Given the description of an element on the screen output the (x, y) to click on. 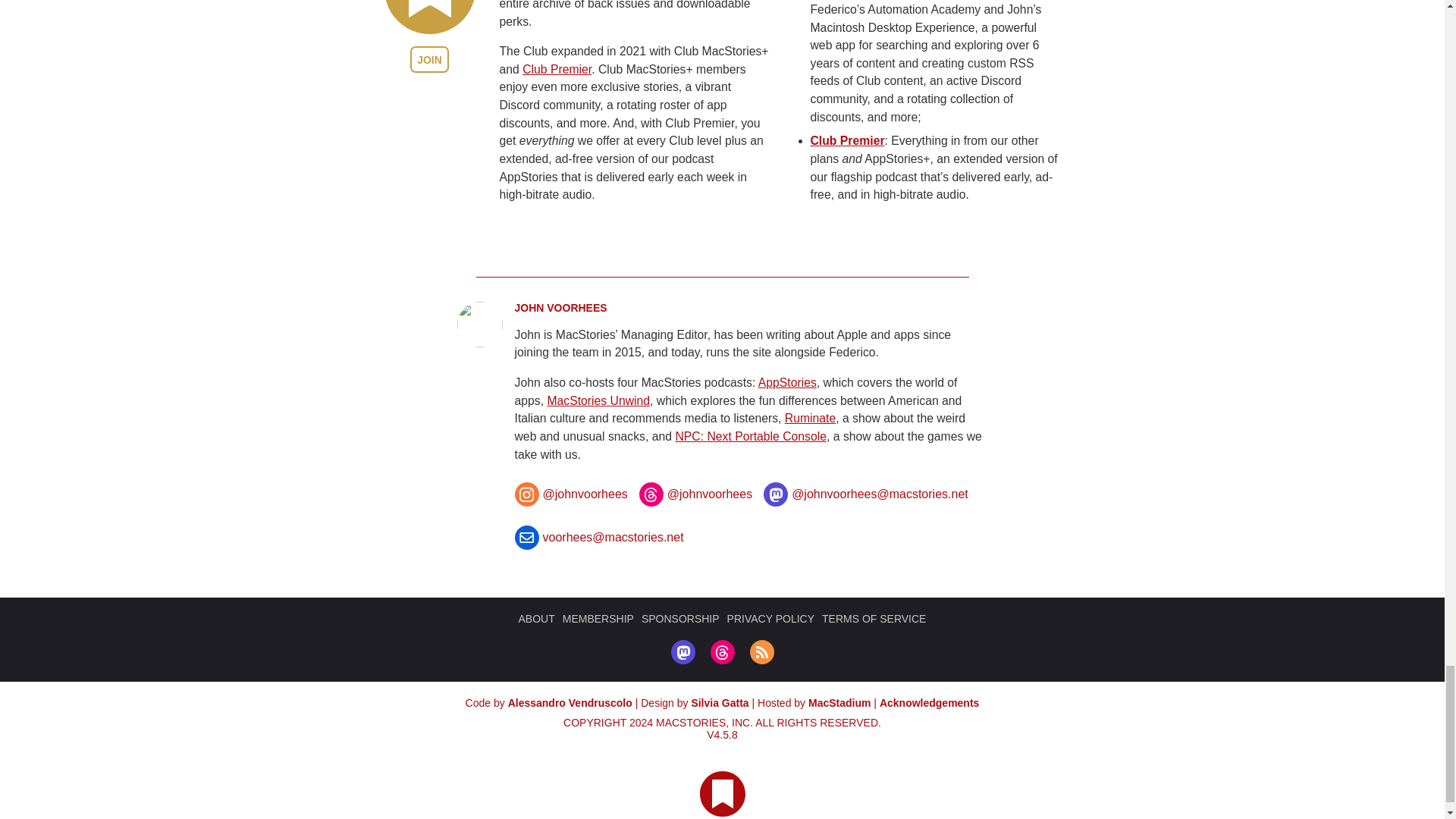
Posts by John Voorhees (560, 307)
